Given the description of an element on the screen output the (x, y) to click on. 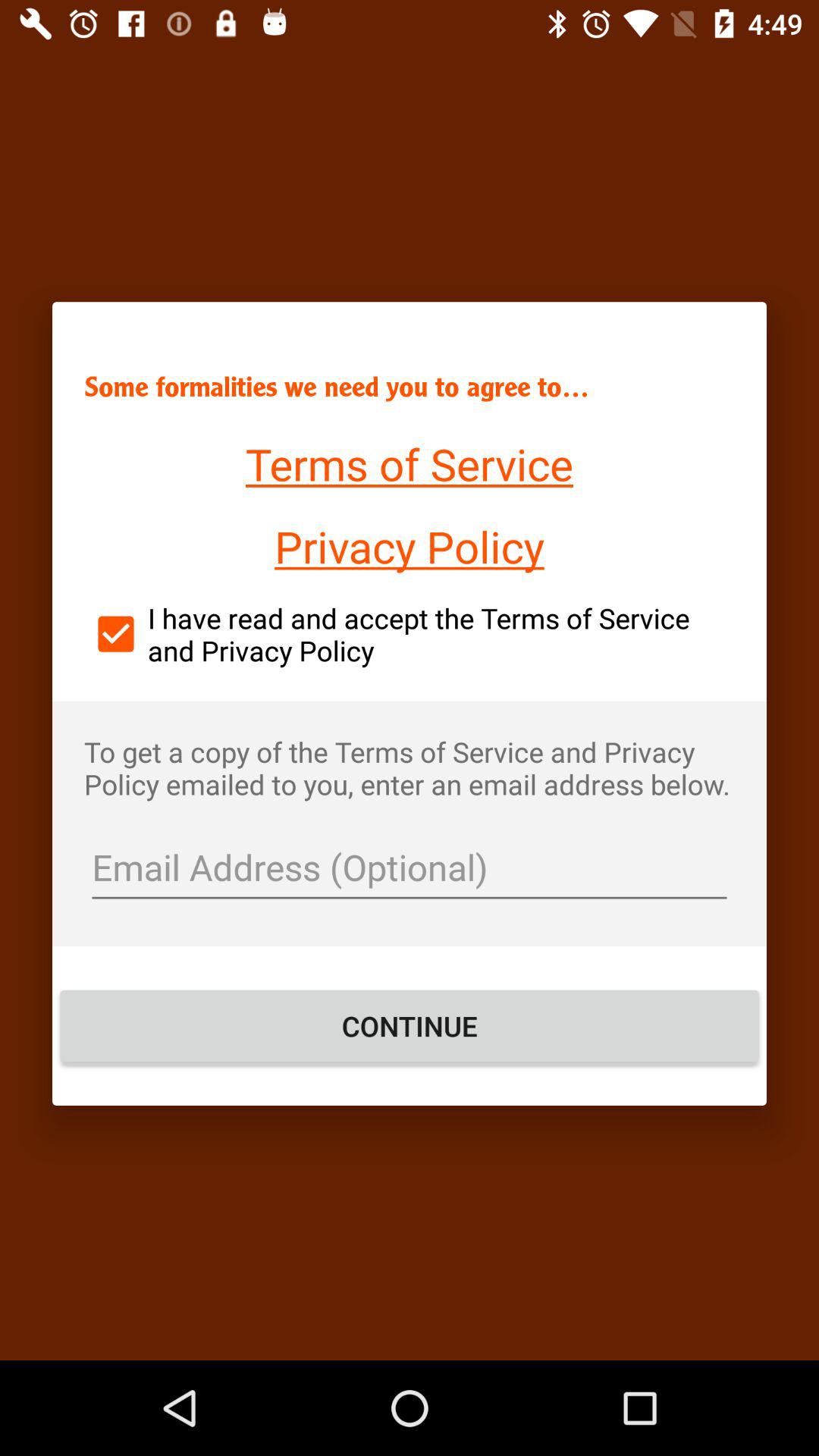
jump to i have read (409, 634)
